Given the description of an element on the screen output the (x, y) to click on. 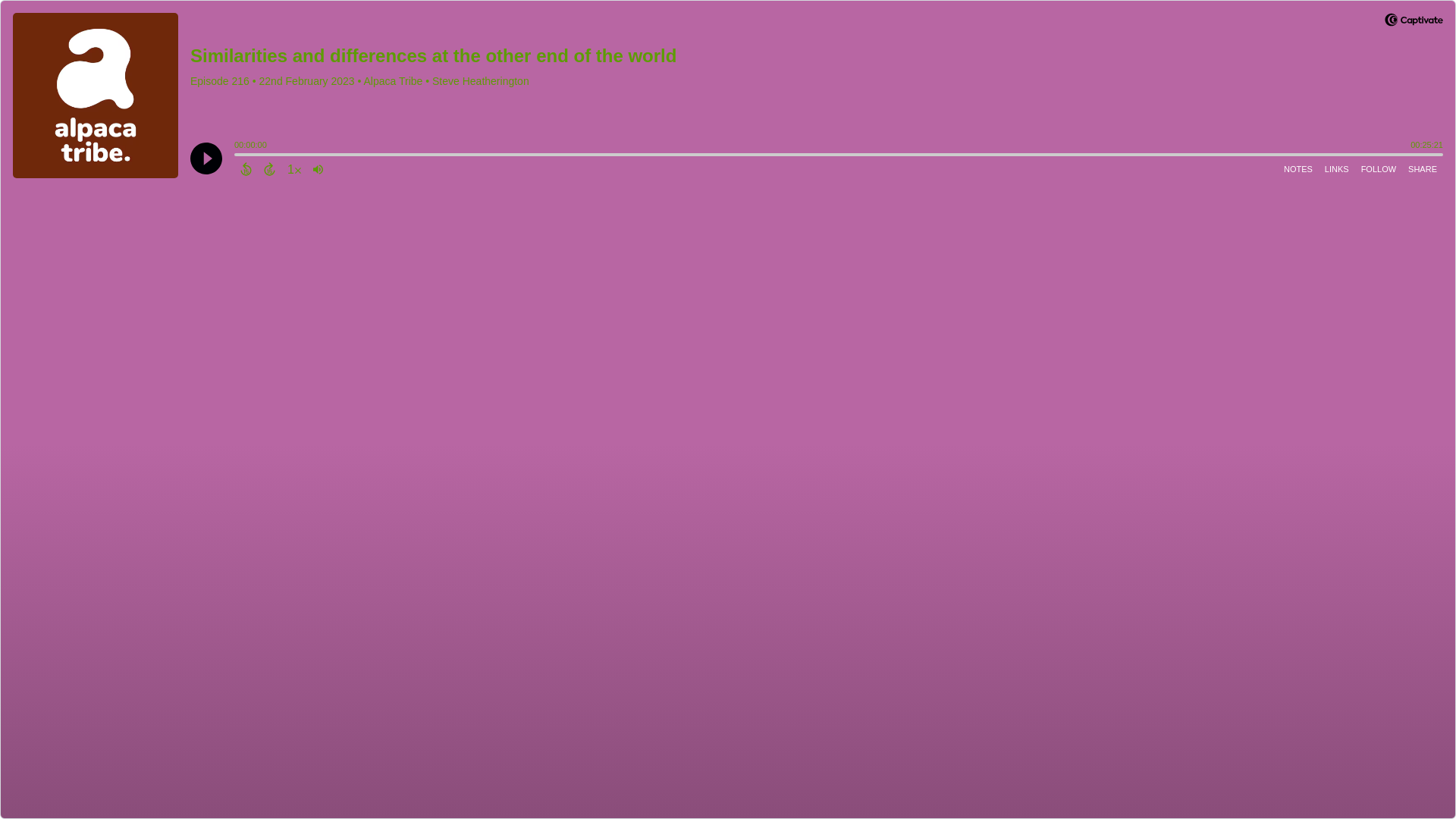
FOLLOW (1378, 168)
LINKS (1337, 168)
SHARE (1422, 168)
1 (294, 168)
NOTES (1298, 168)
